Given the description of an element on the screen output the (x, y) to click on. 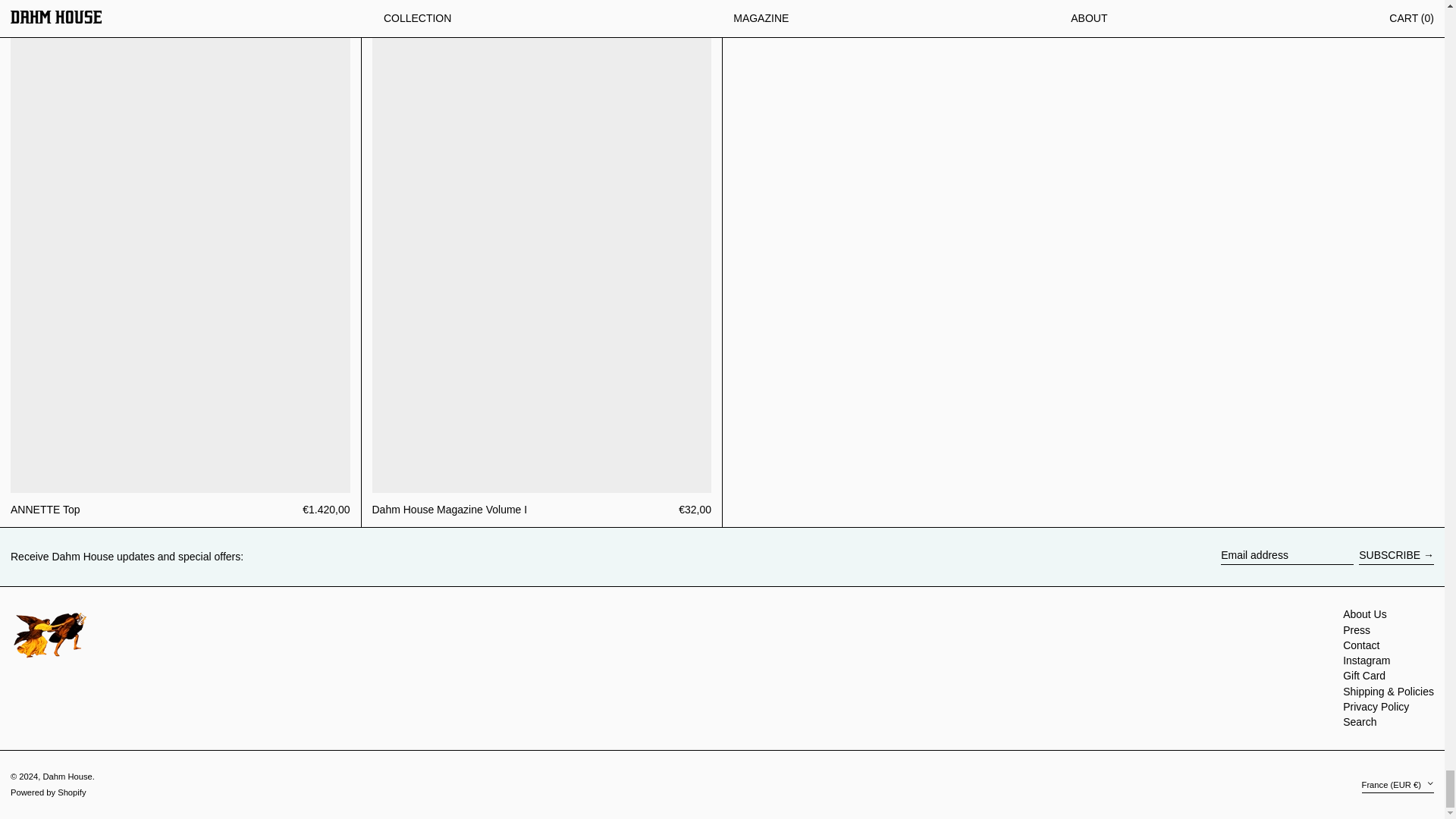
Contact (1360, 645)
Instagram (1366, 660)
Powered by Shopify (47, 791)
Dahm House (66, 776)
Privacy Policy (1375, 706)
Search (1358, 721)
Gift Card (1364, 675)
Press (1356, 630)
About Us (1364, 613)
